Given the description of an element on the screen output the (x, y) to click on. 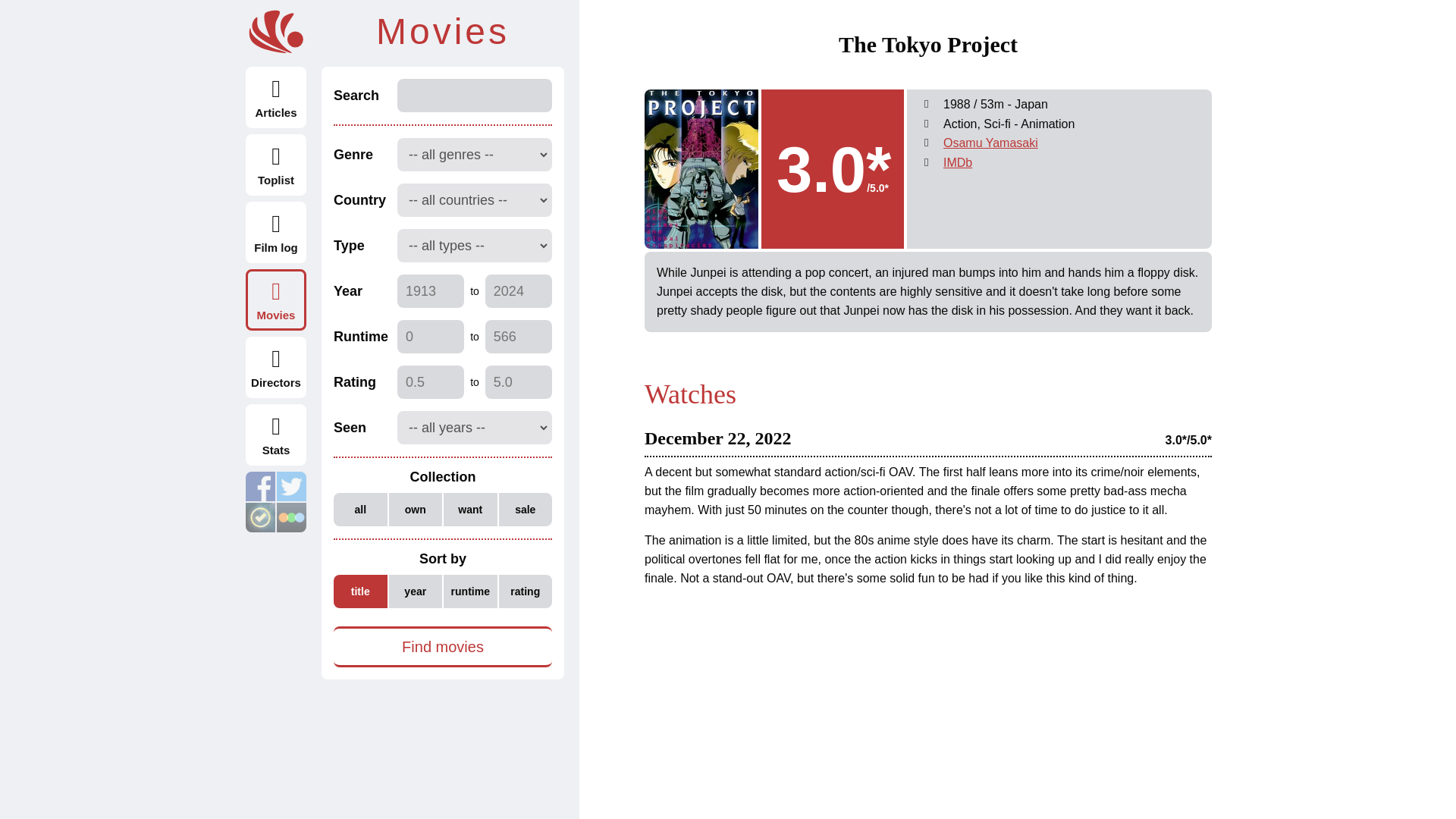
Toplist (275, 164)
Directors (275, 367)
onderhond.com (275, 31)
Movies (275, 299)
Articles (275, 96)
Osamu Yamasaki (990, 142)
IMDb (957, 162)
Stats (275, 435)
Film log (275, 231)
Find movies (442, 646)
